Given the description of an element on the screen output the (x, y) to click on. 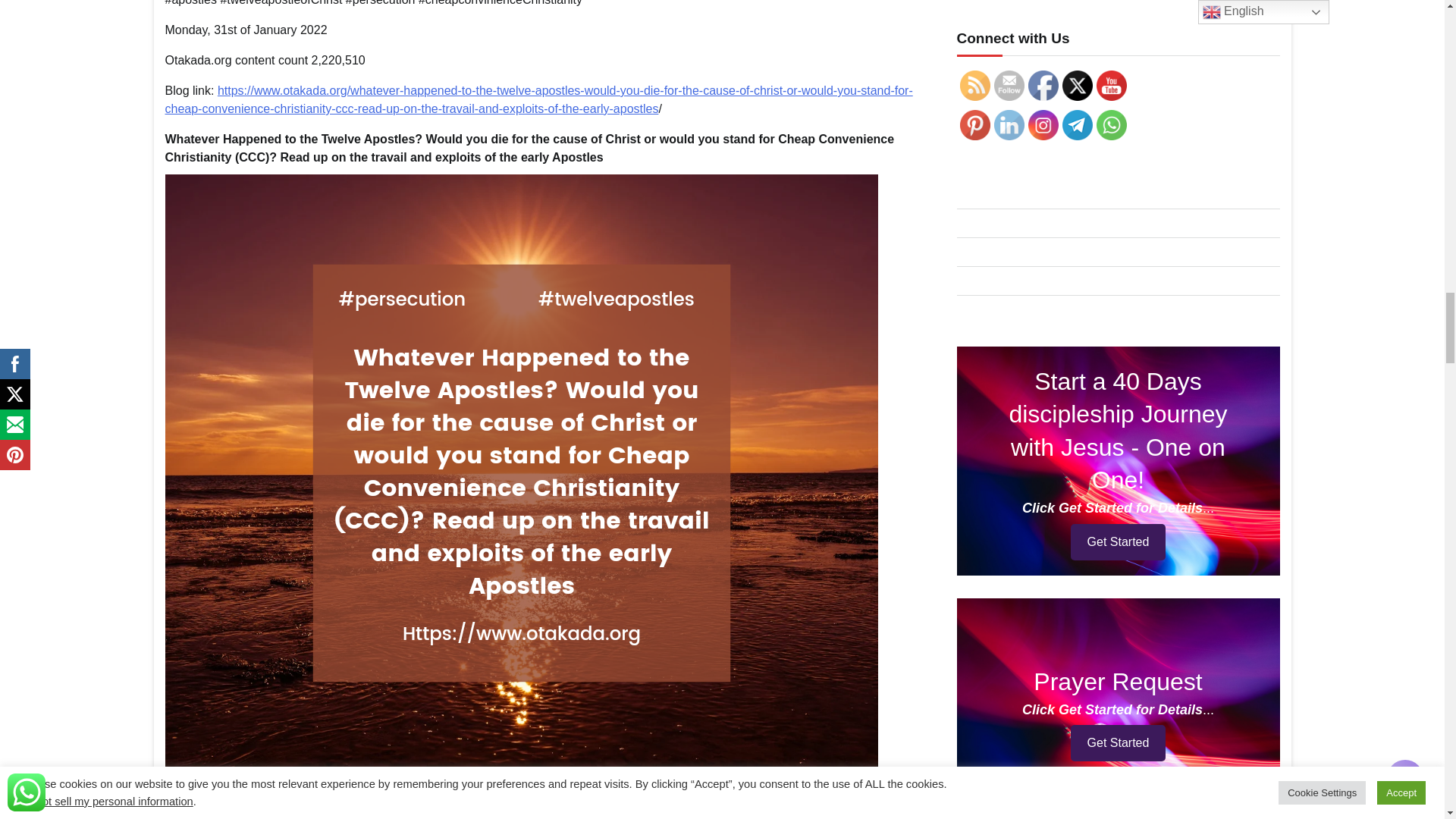
Search (1251, 730)
